Given the description of an element on the screen output the (x, y) to click on. 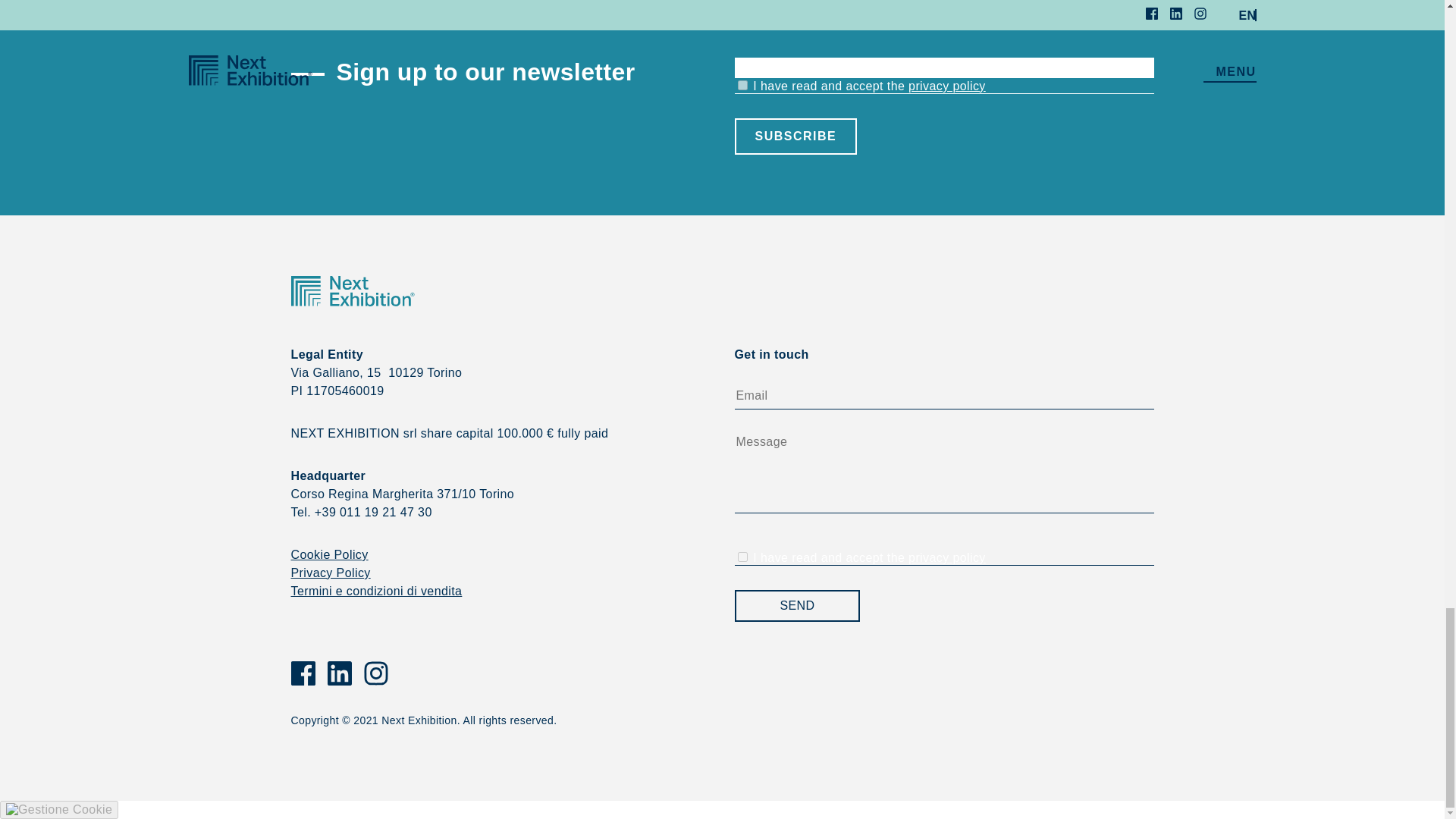
Subscribe (795, 135)
SEND (797, 605)
privacy (741, 85)
Cookie Policy (329, 554)
privacy policy (946, 85)
privacy (741, 556)
SEND (797, 605)
privacy policy (946, 557)
Subscribe (795, 135)
Privacy Policy (331, 572)
Termini e condizioni di vendita (377, 590)
